Given the description of an element on the screen output the (x, y) to click on. 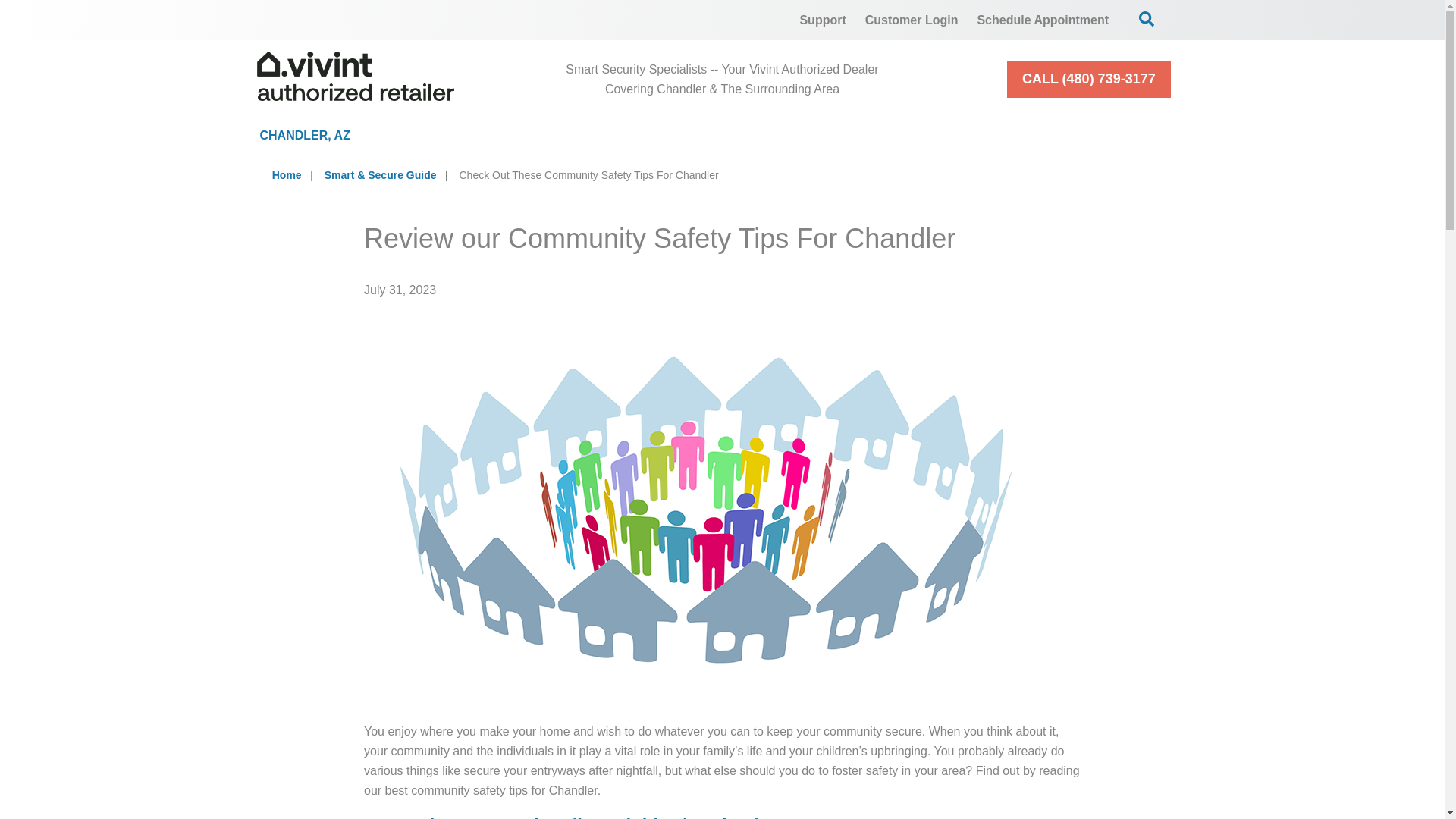
Open Search (1146, 18)
Support (822, 20)
Smart Home Automation (865, 135)
Cameras (662, 135)
Customer Login (911, 20)
Schedule Appointment (1042, 20)
Home Security (490, 135)
Home (286, 174)
